Given the description of an element on the screen output the (x, y) to click on. 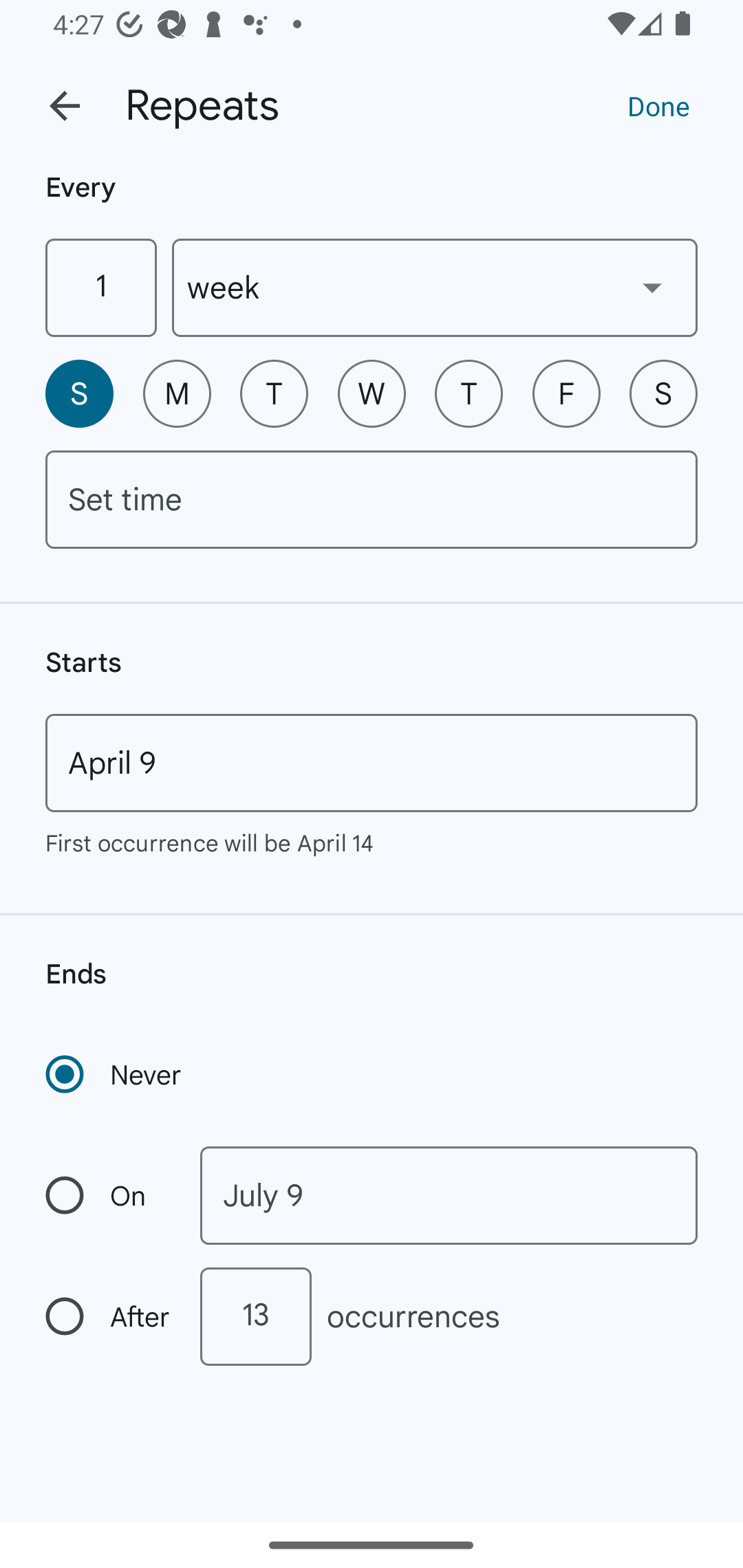
Back (64, 105)
Done (658, 105)
1 (100, 287)
week (434, 287)
Show dropdown menu (652, 286)
S Sunday, selected (79, 393)
M Monday (177, 393)
T Tuesday (273, 393)
W Wednesday (371, 393)
T Thursday (468, 393)
F Friday (566, 393)
S Saturday (663, 393)
Set time (371, 499)
April 9 (371, 762)
Never Recurrence never ends (115, 1074)
July 9 (448, 1195)
On Recurrence ends on a specific date (109, 1195)
13 (255, 1315)
